Given the description of an element on the screen output the (x, y) to click on. 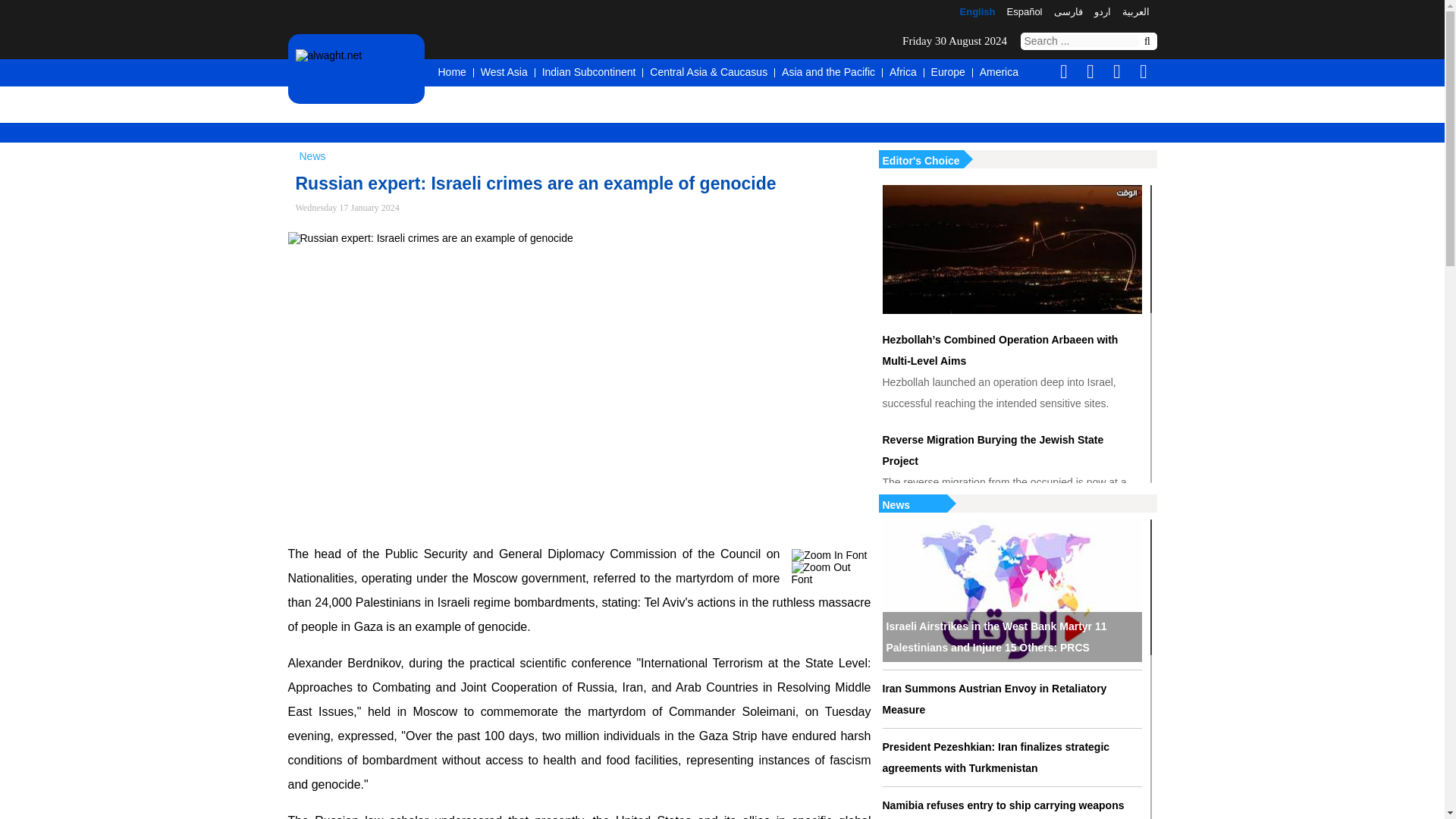
Home (451, 72)
Asia and the Pacific (828, 72)
Indian Subcontinent (588, 72)
West Asia (503, 72)
English (977, 12)
Indian Subcontinent (588, 72)
West Asia (503, 72)
Home (451, 72)
